Given the description of an element on the screen output the (x, y) to click on. 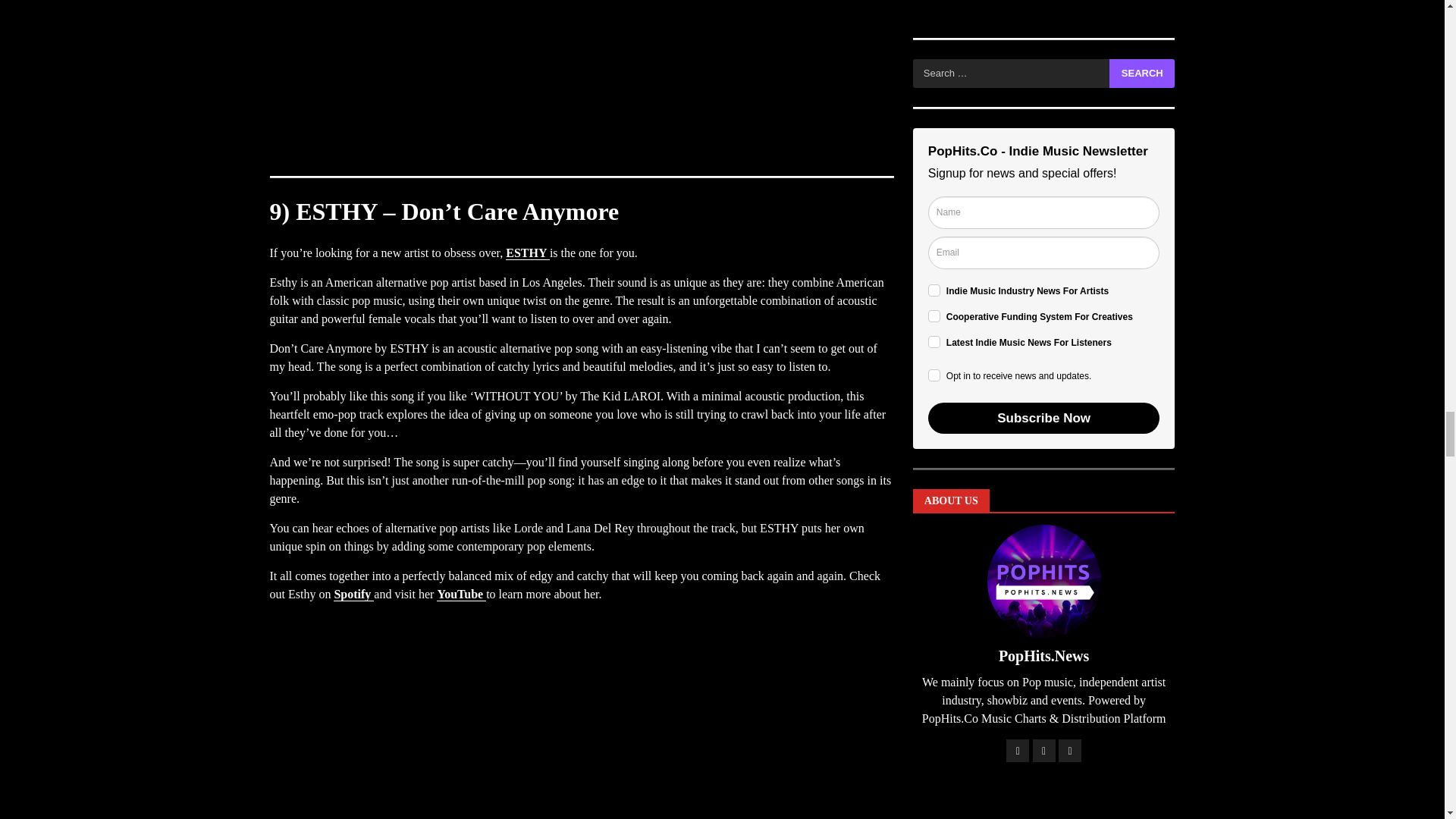
Spotify Embed: La Biche (581, 80)
